Given the description of an element on the screen output the (x, y) to click on. 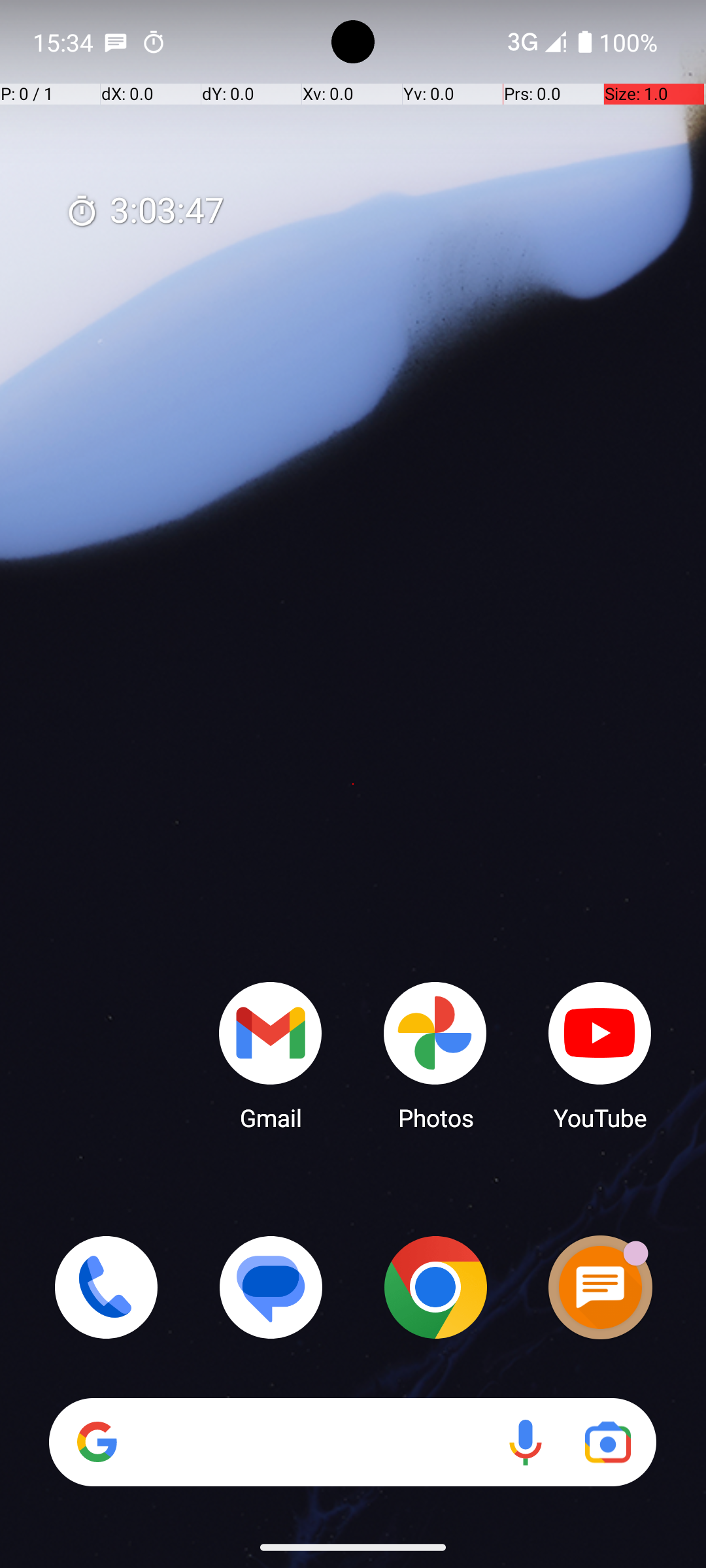
3:03:47 Element type: android.widget.TextView (144, 210)
